Given the description of an element on the screen output the (x, y) to click on. 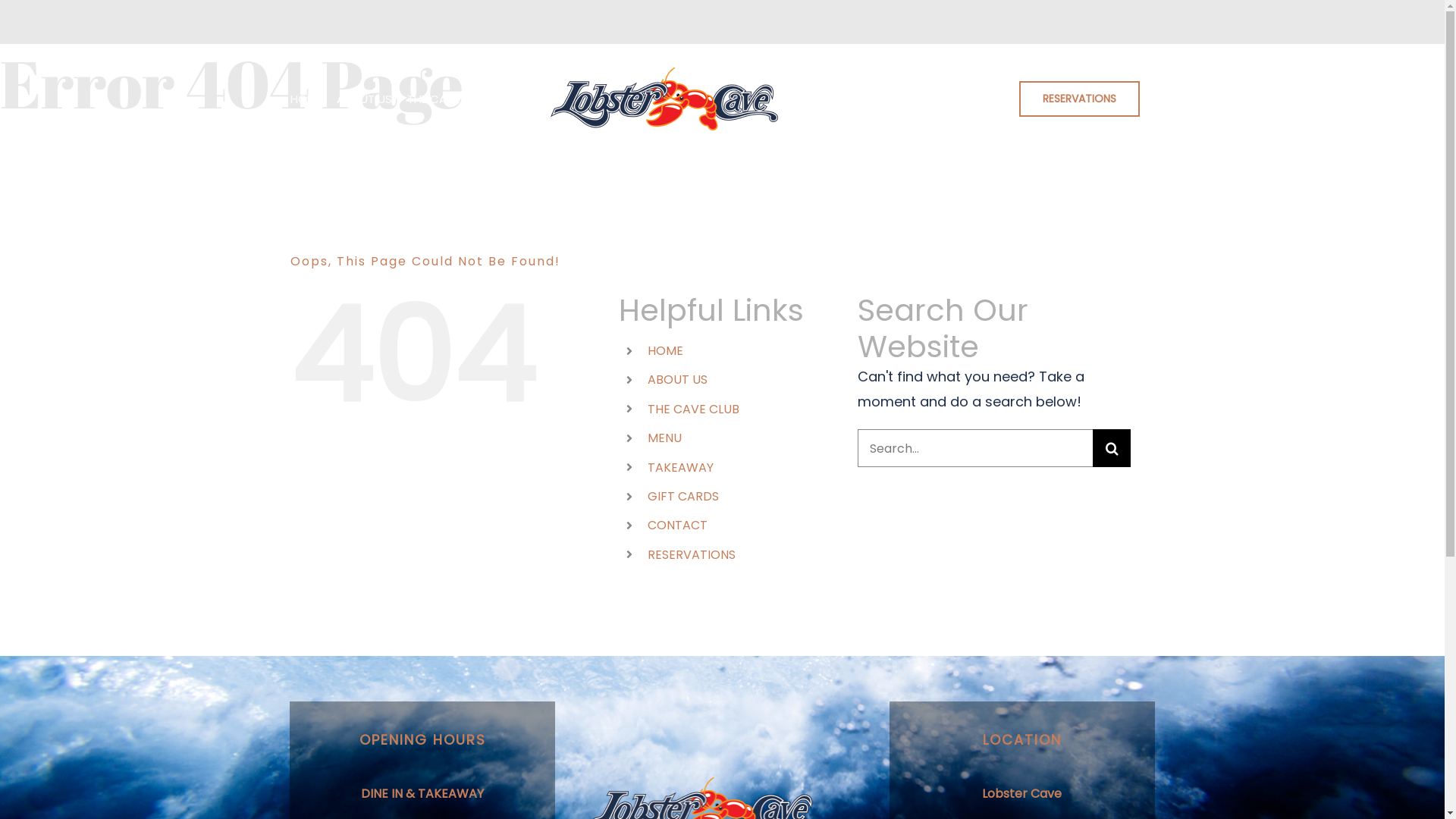
TAKEAWAY Element type: text (680, 467)
HOME Element type: text (304, 98)
TAKEAWAY Element type: text (823, 98)
RESERVATIONS Element type: text (1079, 98)
GIFT CARDS Element type: text (682, 496)
MENU Element type: text (519, 98)
HOME Element type: text (665, 350)
ABOUT US Element type: text (364, 98)
CONTACT Element type: text (975, 98)
GIFT CARDS Element type: text (899, 98)
ABOUT US Element type: text (677, 379)
THE CAVE CLUB Element type: text (447, 98)
MENU Element type: text (664, 437)
RESERVATIONS Element type: text (691, 554)
THE CAVE CLUB Element type: text (693, 408)
CONTACT Element type: text (677, 524)
